Given the description of an element on the screen output the (x, y) to click on. 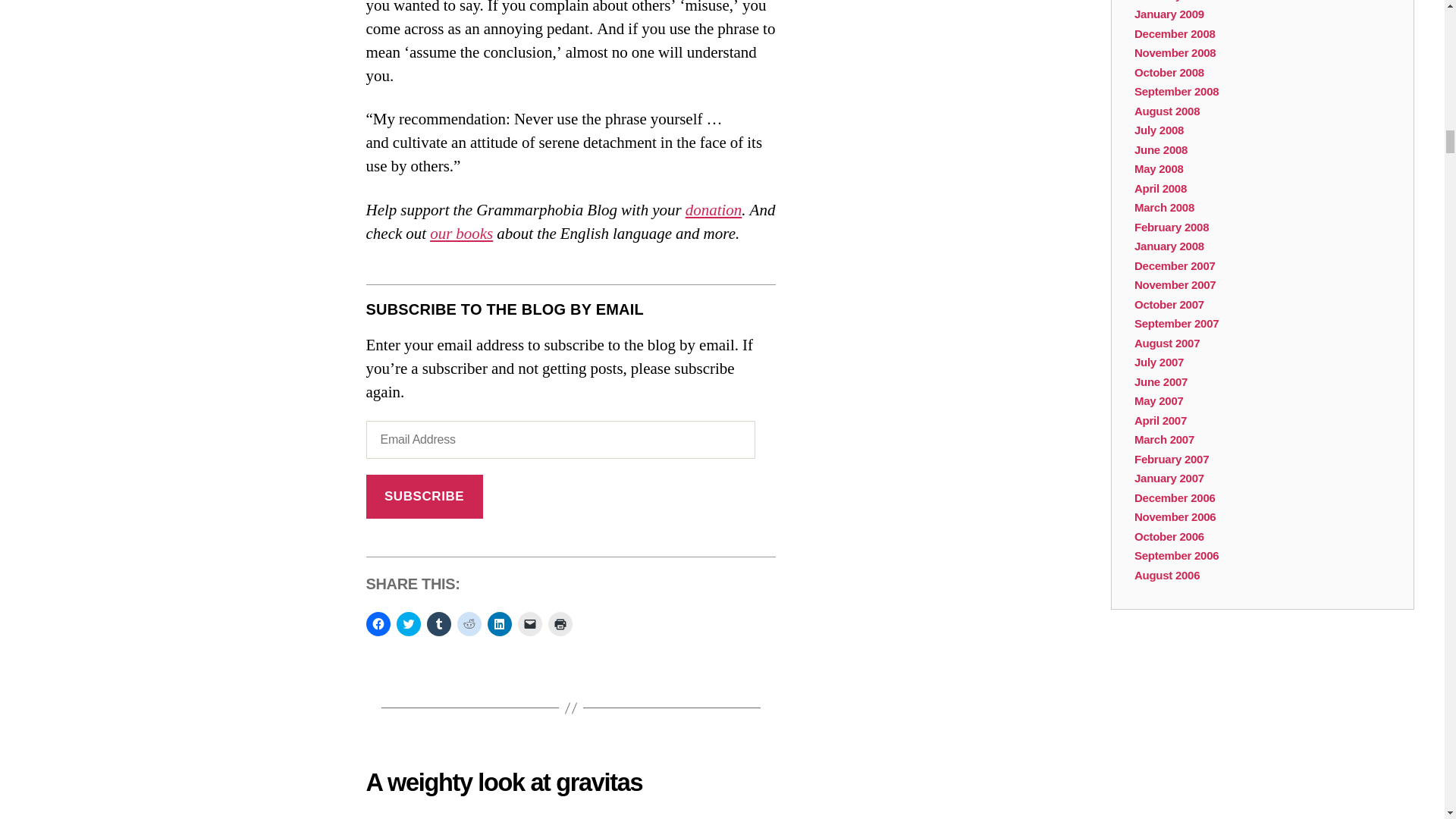
Click to print (559, 623)
Click to share on Tumblr (437, 623)
Click to share on Reddit (468, 623)
Click to email a link to a friend (528, 623)
Click to share on Twitter (408, 623)
Click to share on LinkedIn (498, 623)
Click to share on Facebook (377, 623)
